Given the description of an element on the screen output the (x, y) to click on. 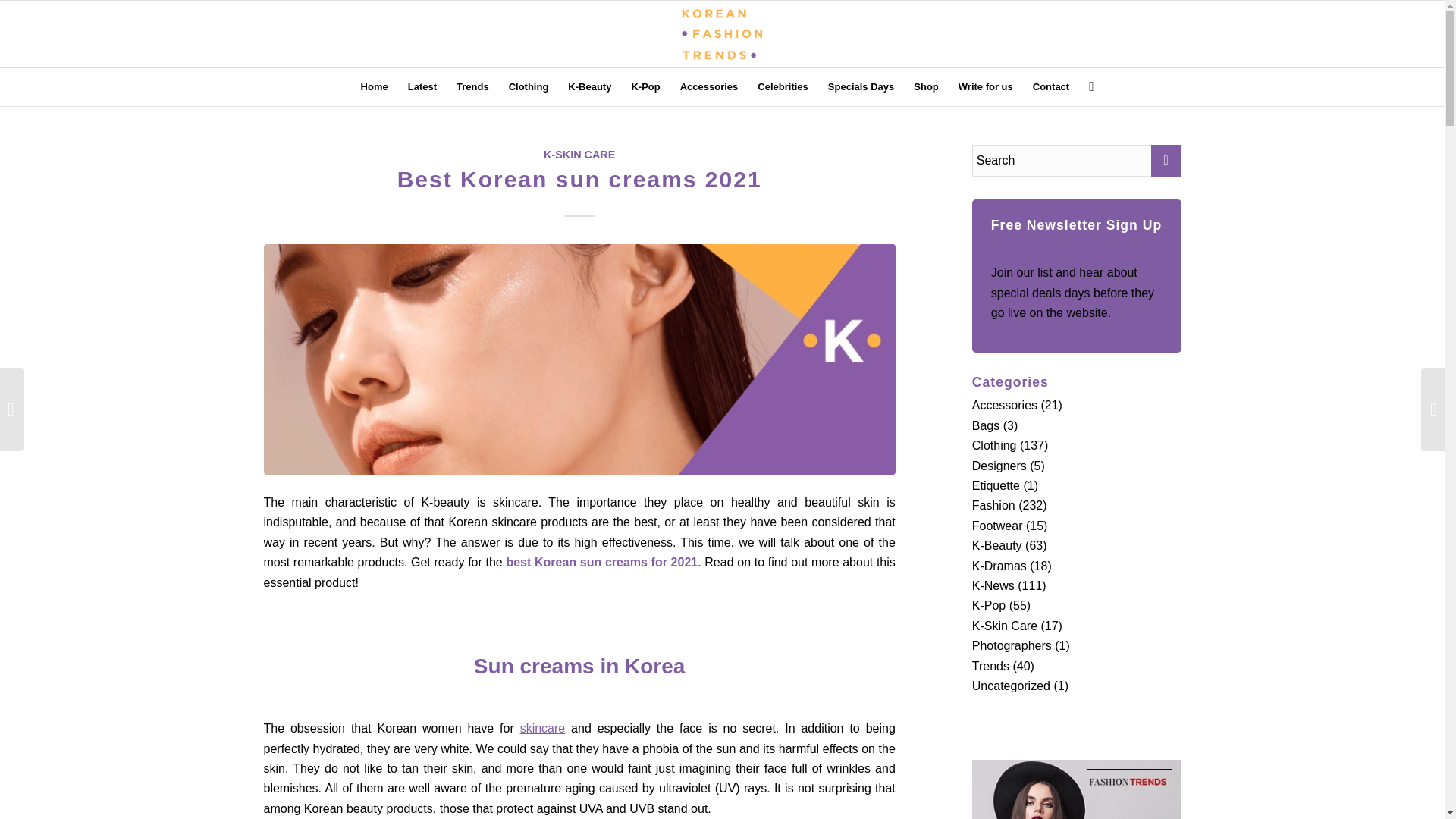
Trends (472, 86)
Home (373, 86)
Shop (926, 86)
K-Beauty (589, 86)
Accessories (708, 86)
KoreanFashionTrends,LogoColor.Medium (722, 33)
Specials Days (861, 86)
Latest (421, 86)
Skincare with Korean products (542, 727)
K-Pop (645, 86)
Celebrities (782, 86)
Clothing (529, 86)
